Given the description of an element on the screen output the (x, y) to click on. 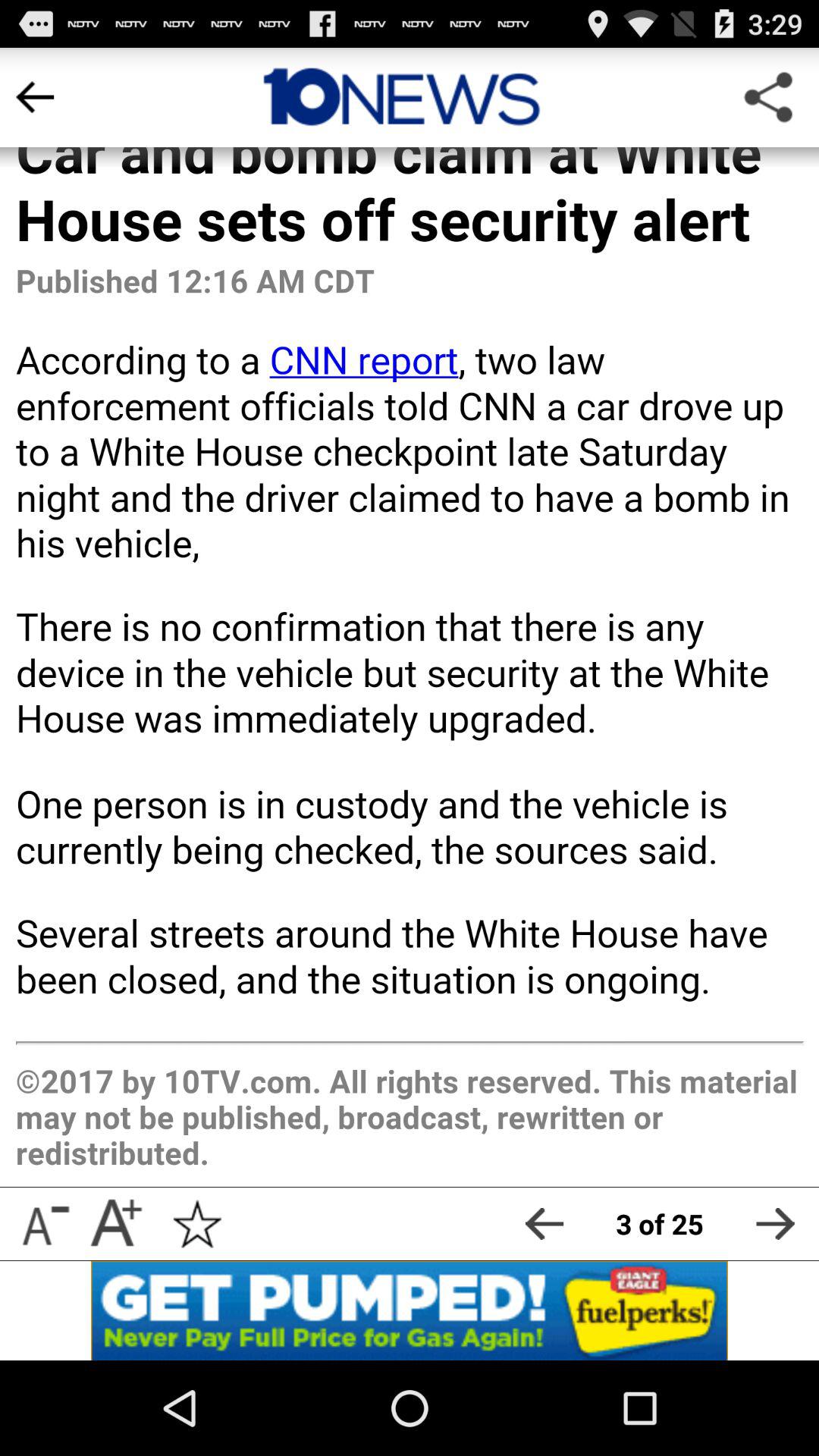
open ap (409, 1310)
